Given the description of an element on the screen output the (x, y) to click on. 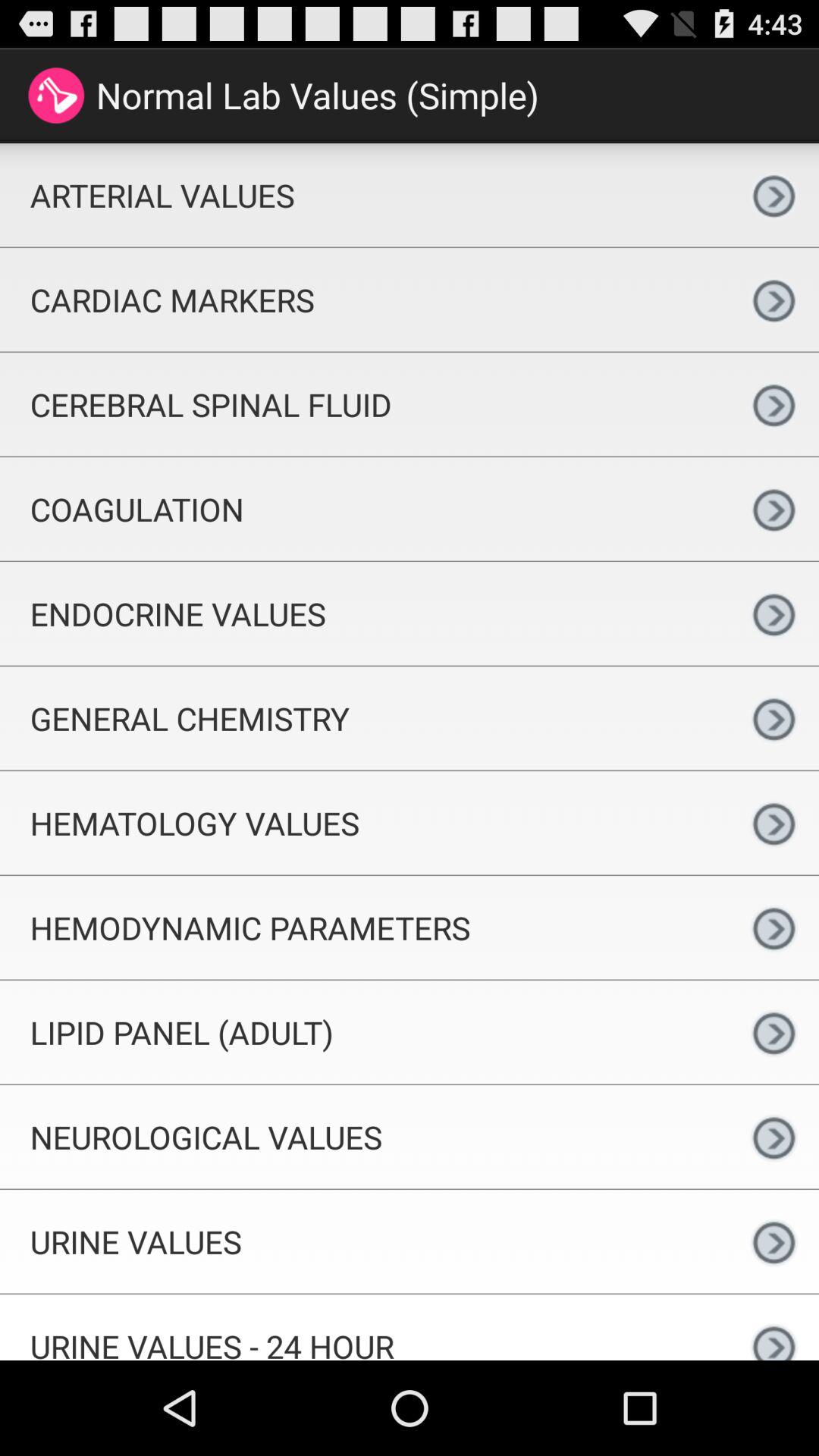
jump to the cerebral spinal fluid (364, 404)
